Given the description of an element on the screen output the (x, y) to click on. 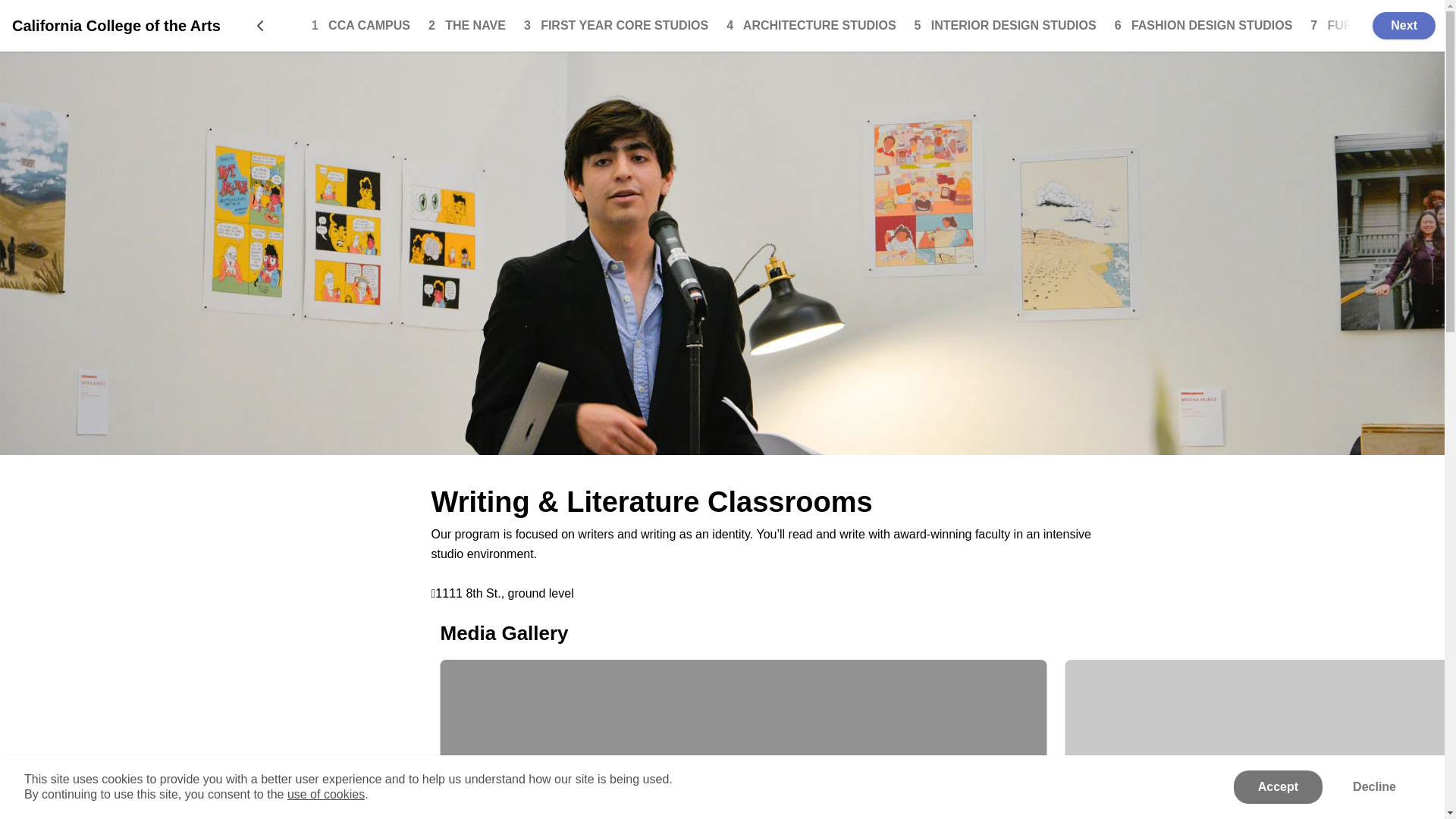
5   INTERIOR DESIGN STUDIOS (1005, 24)
1   CCA CAMPUS (360, 24)
3   FIRST YEAR CORE STUDIOS (615, 24)
2   THE NAVE (466, 24)
6   FASHION DESIGN STUDIOS (1203, 24)
Next (1398, 25)
California College of the Arts (116, 25)
click to open item in gallery (742, 739)
4   ARCHITECTURE STUDIOS (810, 24)
Next (1404, 25)
